Given the description of an element on the screen output the (x, y) to click on. 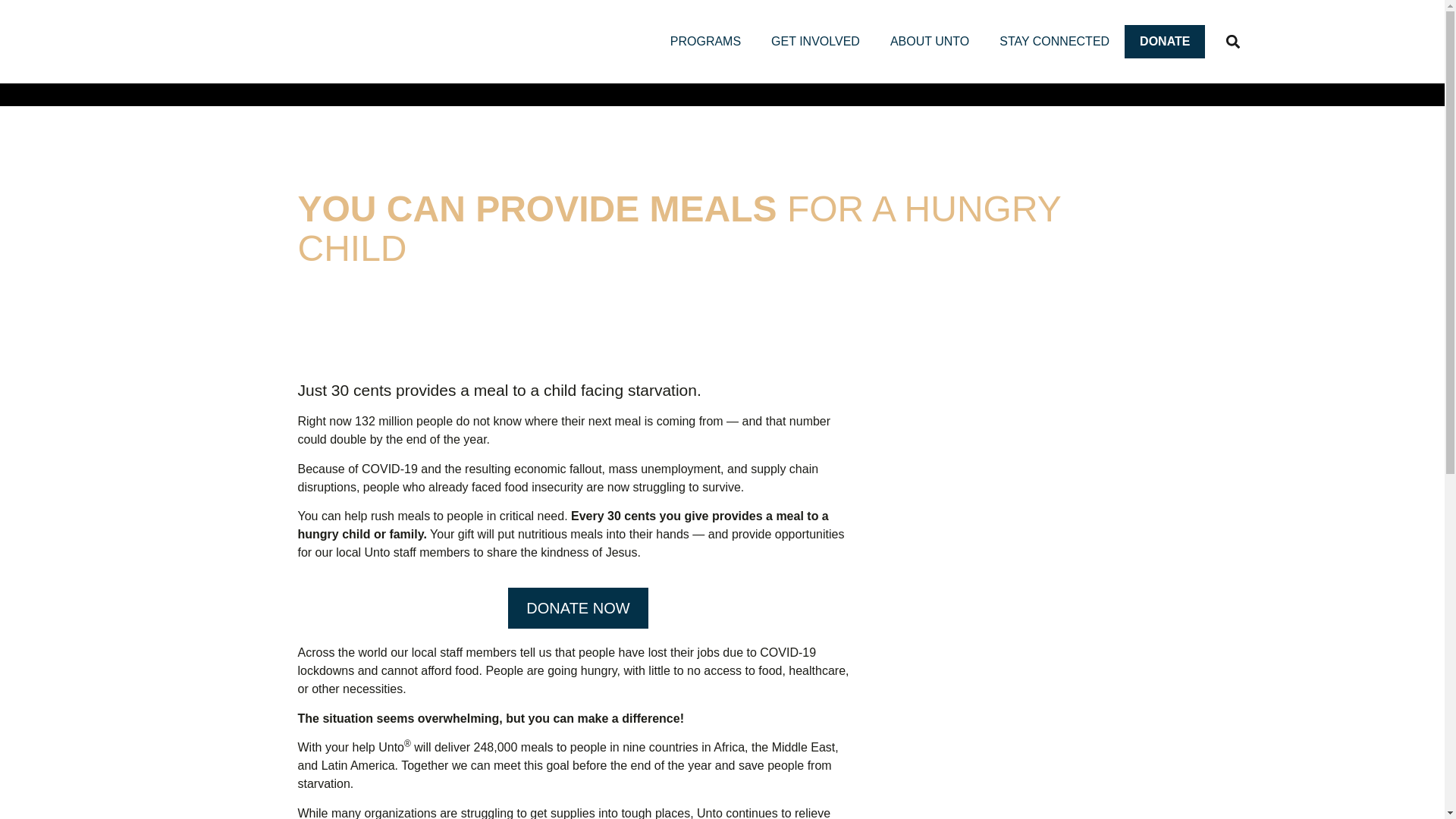
GET INVOLVED (815, 41)
STAY CONNECTED (1054, 41)
DONATE (1164, 41)
ABOUT UNTO (929, 41)
PROGRAMS (705, 41)
